Given the description of an element on the screen output the (x, y) to click on. 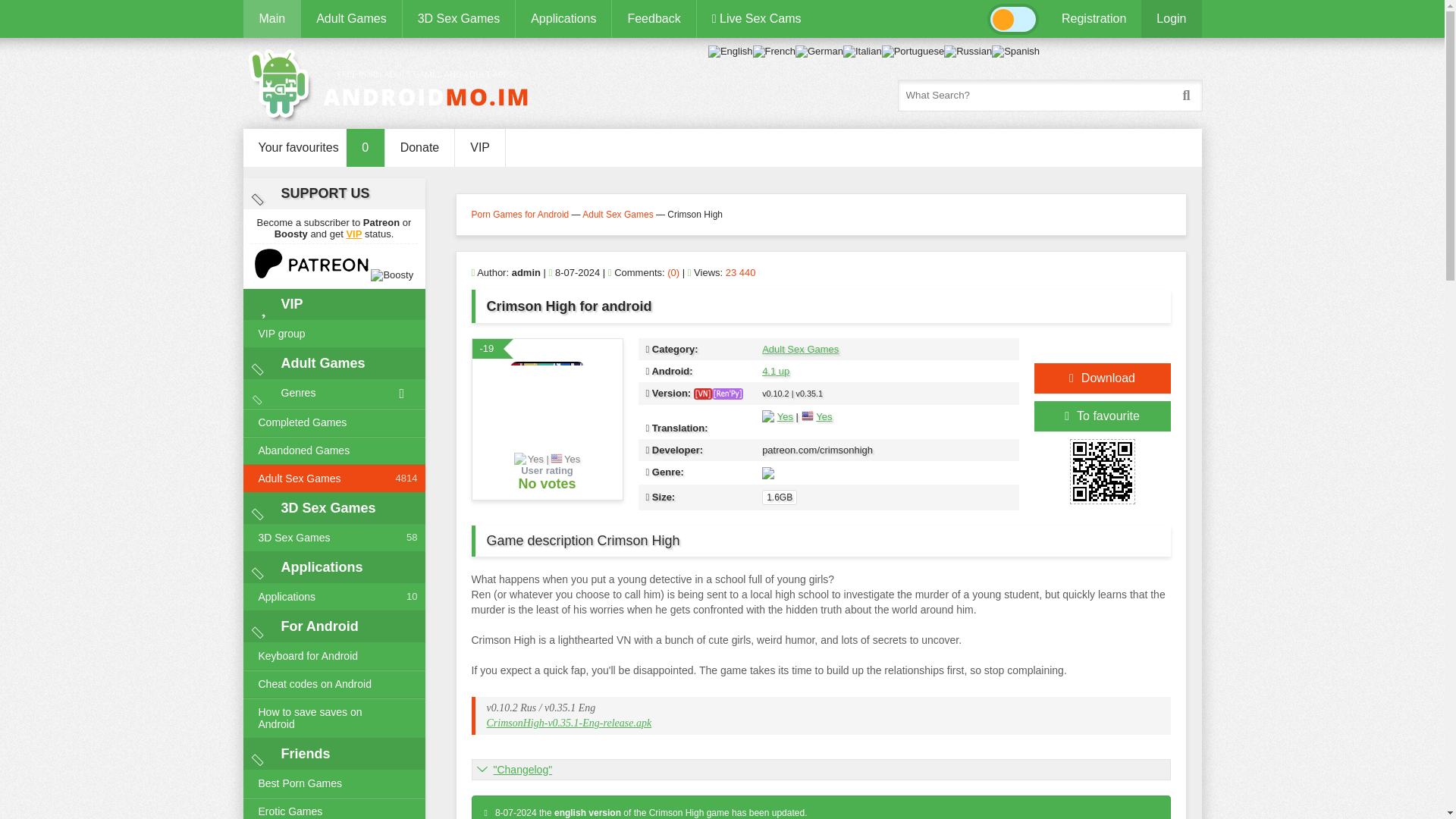
Free Porn Adult Games And Apps For Android (394, 83)
Portuguese (913, 50)
Adult Games (350, 18)
French (773, 50)
3D Sex Games (458, 18)
Italian (862, 50)
Spanish (1015, 50)
Your favourites0 (313, 147)
German (818, 50)
Main (271, 18)
Donate (420, 147)
Registration (1093, 18)
VIP (353, 233)
Applications (563, 18)
VIP (479, 147)
